Given the description of an element on the screen output the (x, y) to click on. 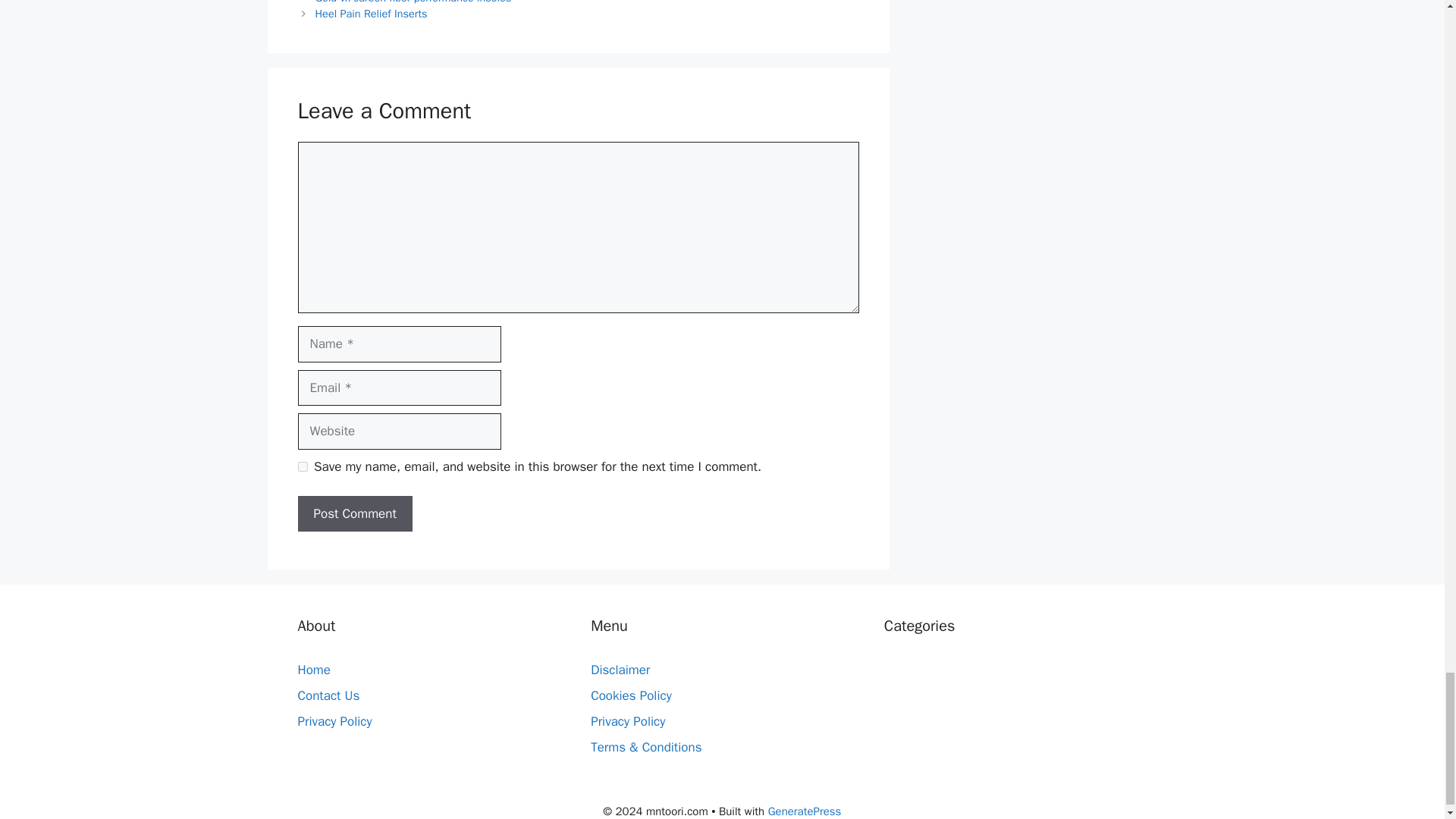
Post Comment (354, 514)
Heel Pain Relief Inserts (371, 13)
Disclaimer (620, 669)
Cookies Policy (631, 695)
Gold vk carbon fiber performance insoles (413, 2)
Privacy Policy (628, 721)
GeneratePress (804, 811)
Privacy Policy (334, 721)
yes (302, 466)
Post Comment (354, 514)
